Given the description of an element on the screen output the (x, y) to click on. 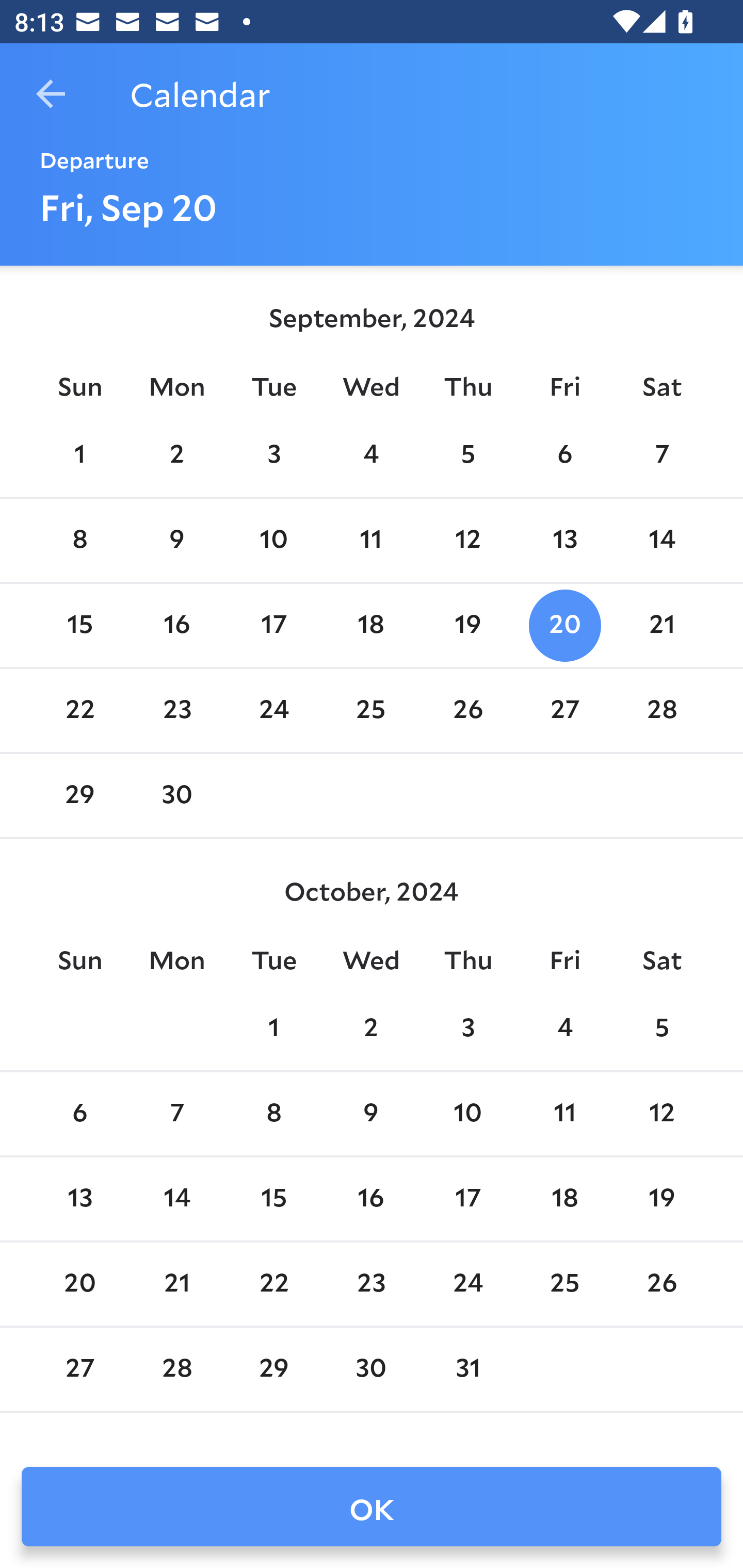
Navigate up (50, 93)
1 (79, 454)
2 (177, 454)
3 (273, 454)
4 (371, 454)
5 (467, 454)
6 (565, 454)
7 (661, 454)
8 (79, 540)
9 (177, 540)
10 (273, 540)
11 (371, 540)
12 (467, 540)
13 (565, 540)
14 (661, 540)
15 (79, 625)
16 (177, 625)
17 (273, 625)
18 (371, 625)
19 (467, 625)
20 (565, 625)
21 (661, 625)
22 (79, 710)
23 (177, 710)
24 (273, 710)
25 (371, 710)
26 (467, 710)
27 (565, 710)
28 (661, 710)
29 (79, 796)
30 (177, 796)
1 (273, 1028)
2 (371, 1028)
3 (467, 1028)
4 (565, 1028)
5 (661, 1028)
6 (79, 1114)
7 (177, 1114)
8 (273, 1114)
9 (371, 1114)
10 (467, 1114)
11 (565, 1114)
12 (661, 1114)
13 (79, 1199)
14 (177, 1199)
15 (273, 1199)
16 (371, 1199)
17 (467, 1199)
18 (565, 1199)
19 (661, 1199)
